Given the description of an element on the screen output the (x, y) to click on. 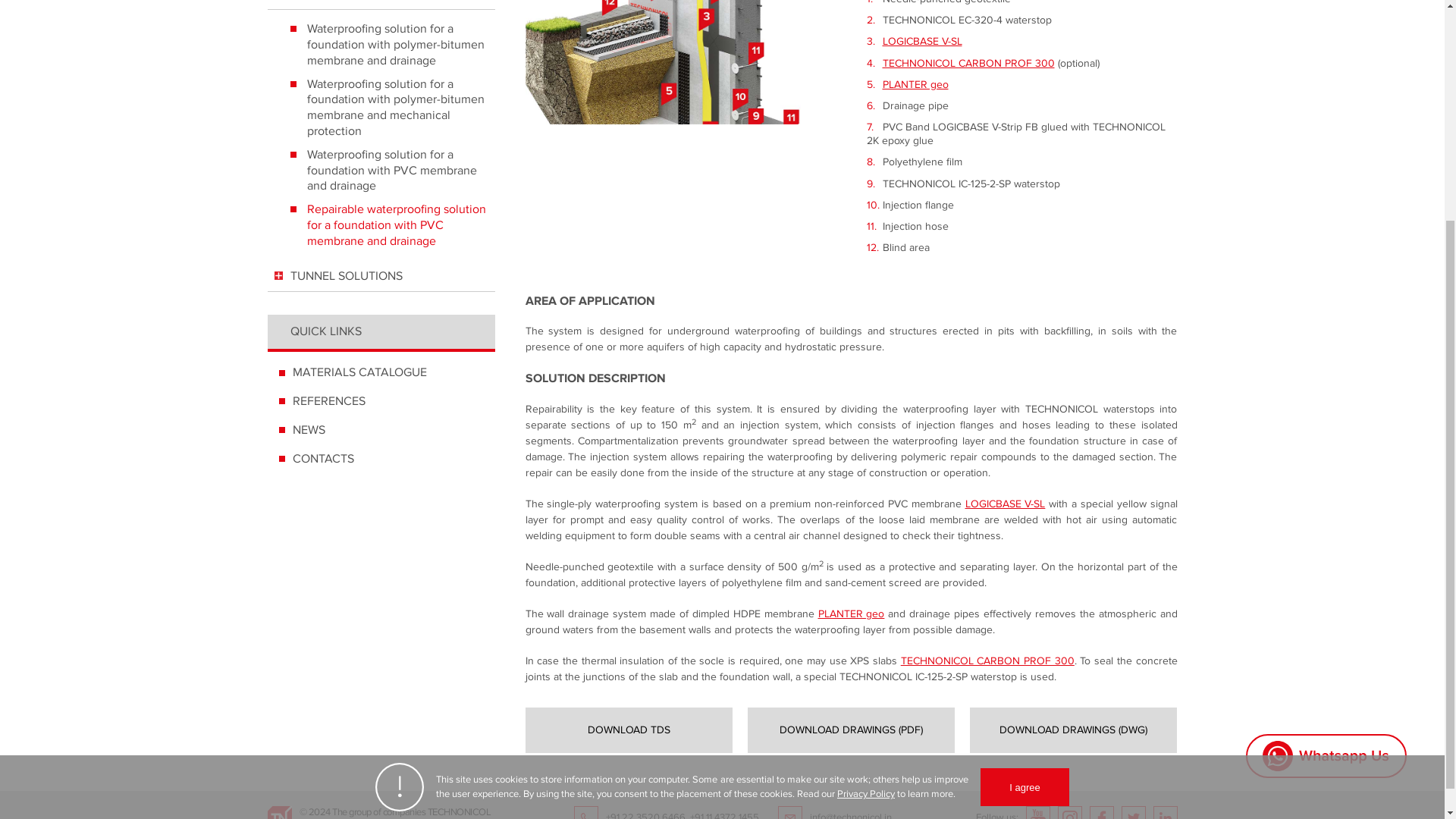
I agree (1023, 484)
DOWNLOAD PDF (851, 729)
DOWNLOAD DWG (1072, 729)
DOWNLOAD TDS (628, 729)
